Given the description of an element on the screen output the (x, y) to click on. 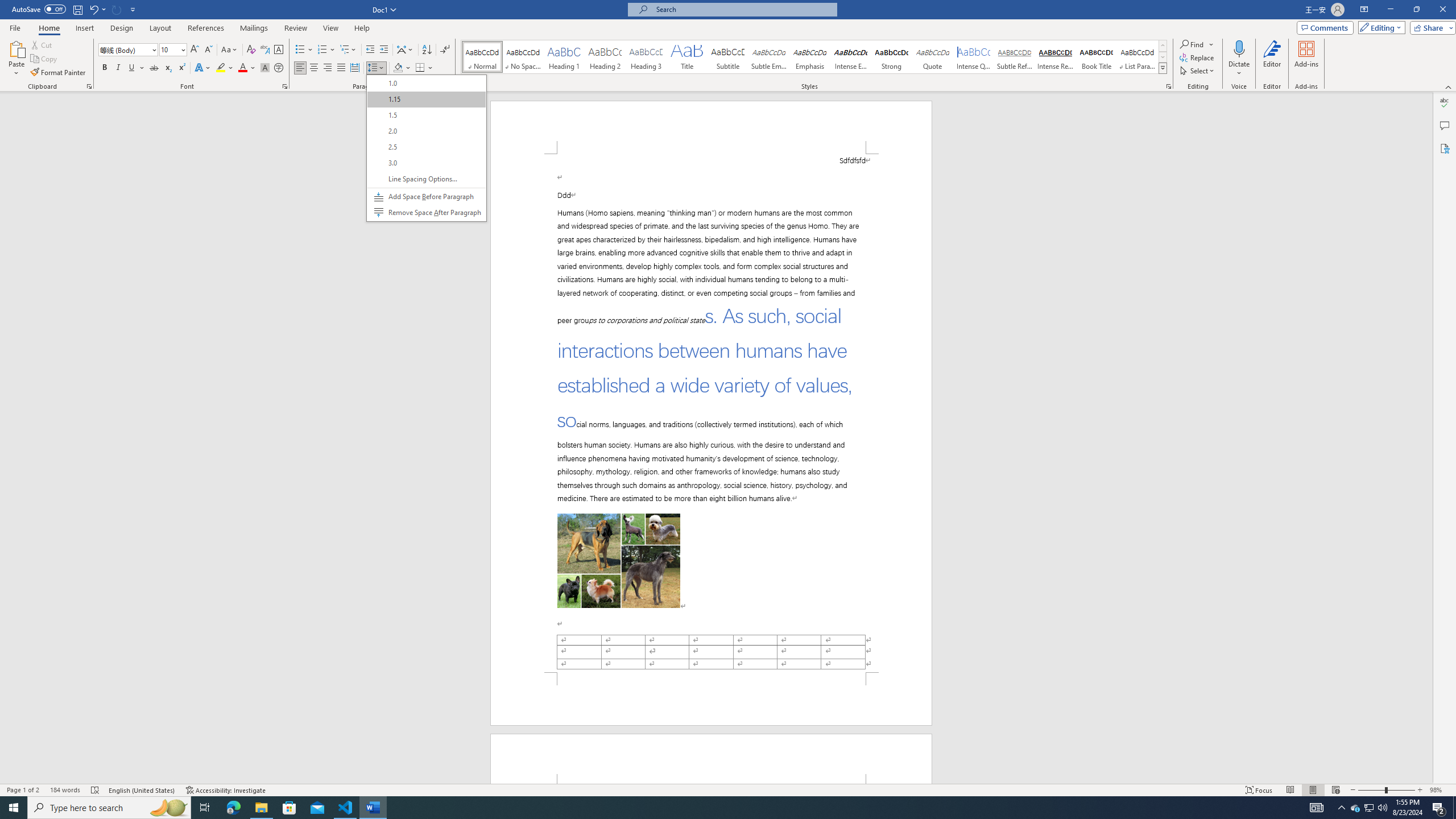
Enclose Characters... (278, 67)
Can't Repeat (1368, 807)
Undo Apply Quick Style Set (117, 9)
Accessibility (96, 9)
Line and Paragraph Spacing (1444, 147)
Microsoft Edge (376, 67)
Subscript (233, 807)
